Given the description of an element on the screen output the (x, y) to click on. 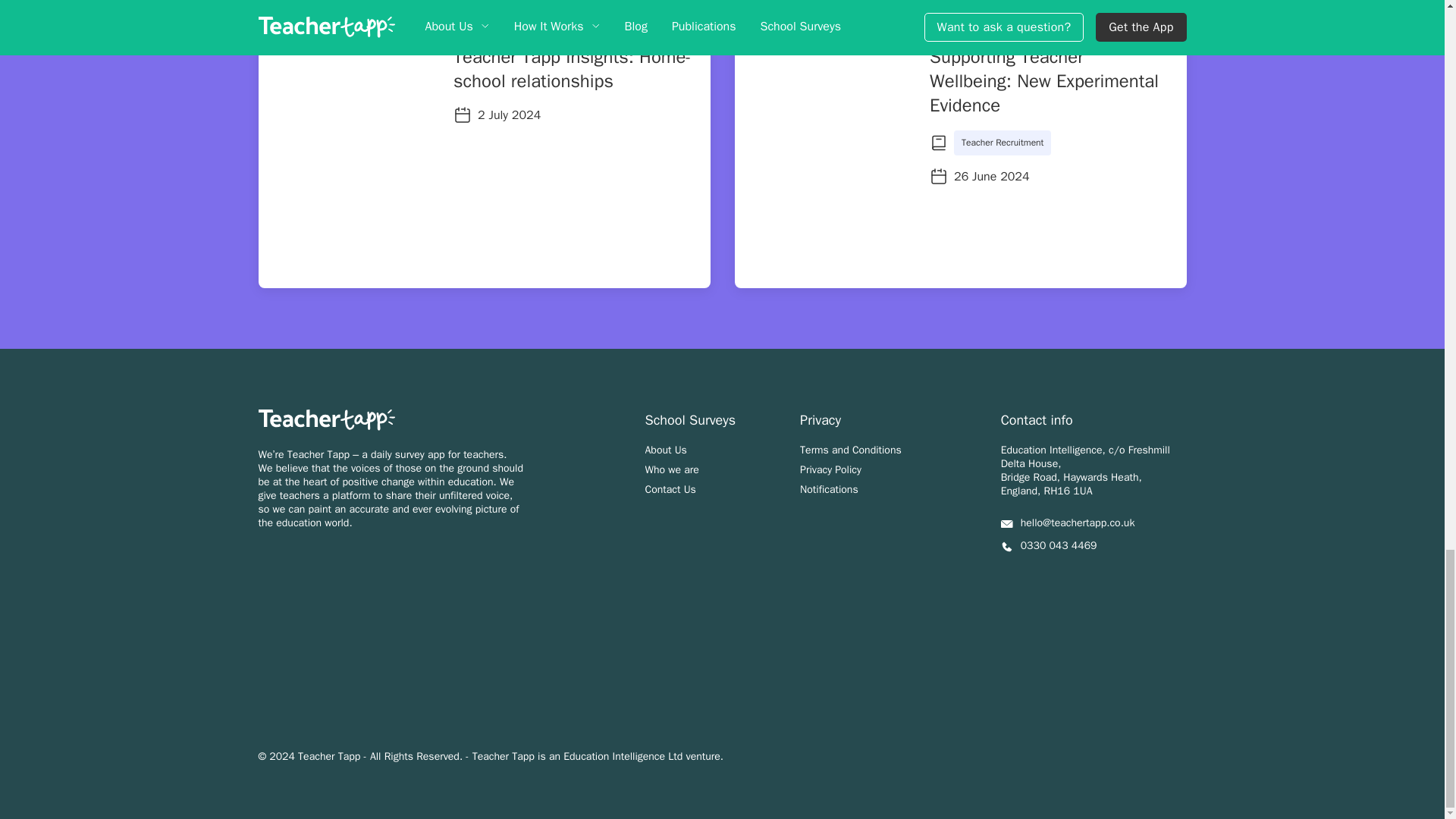
Facebook (1073, 580)
Instagram (1007, 580)
LinkedIn (1039, 580)
Twitter (1106, 578)
